Given the description of an element on the screen output the (x, y) to click on. 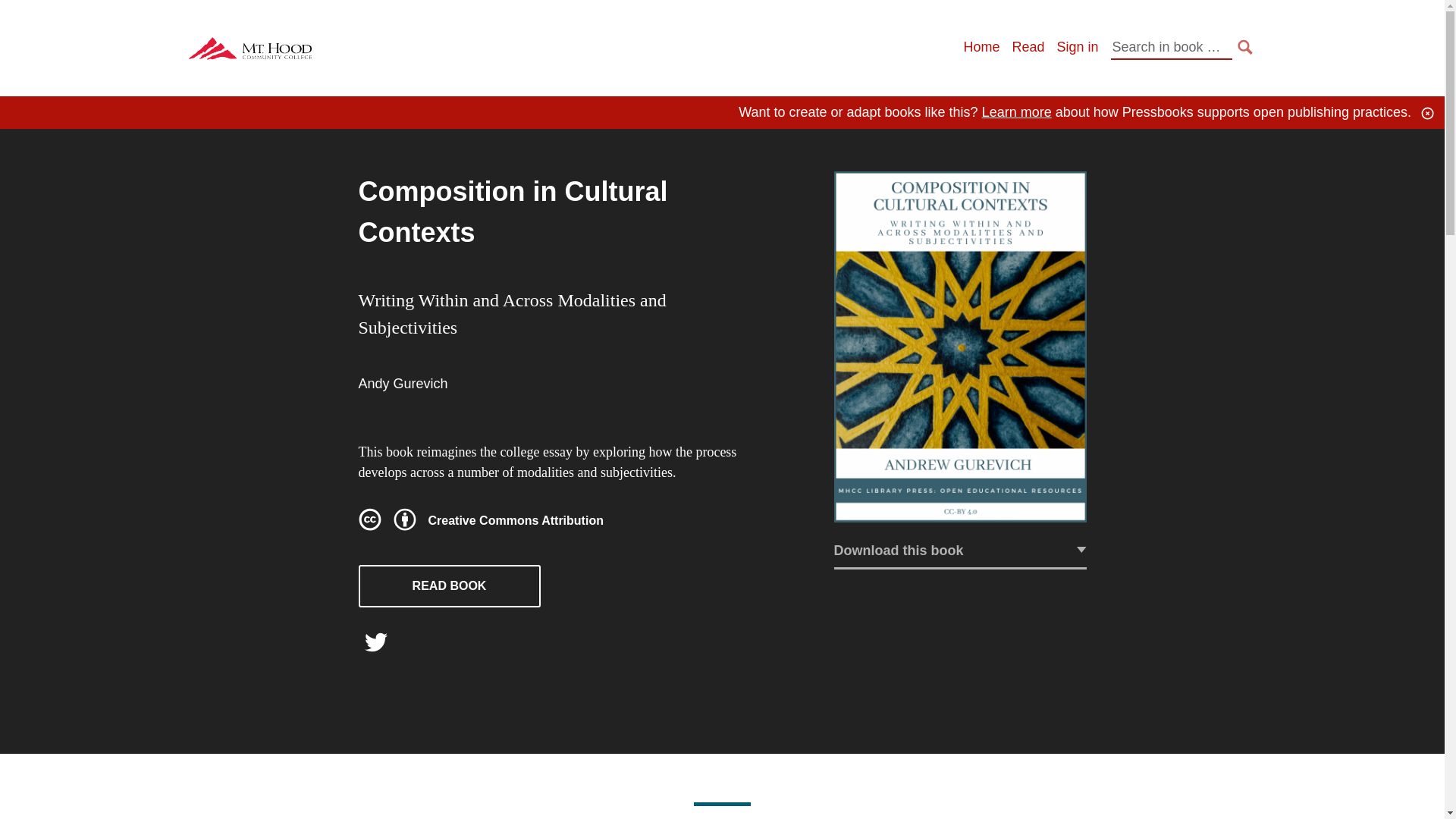
Read (1027, 46)
READ BOOK (449, 586)
Learn more (1016, 111)
Share on Twitter (375, 645)
Download this book (960, 554)
Sign in (1077, 46)
Home (980, 46)
